Given the description of an element on the screen output the (x, y) to click on. 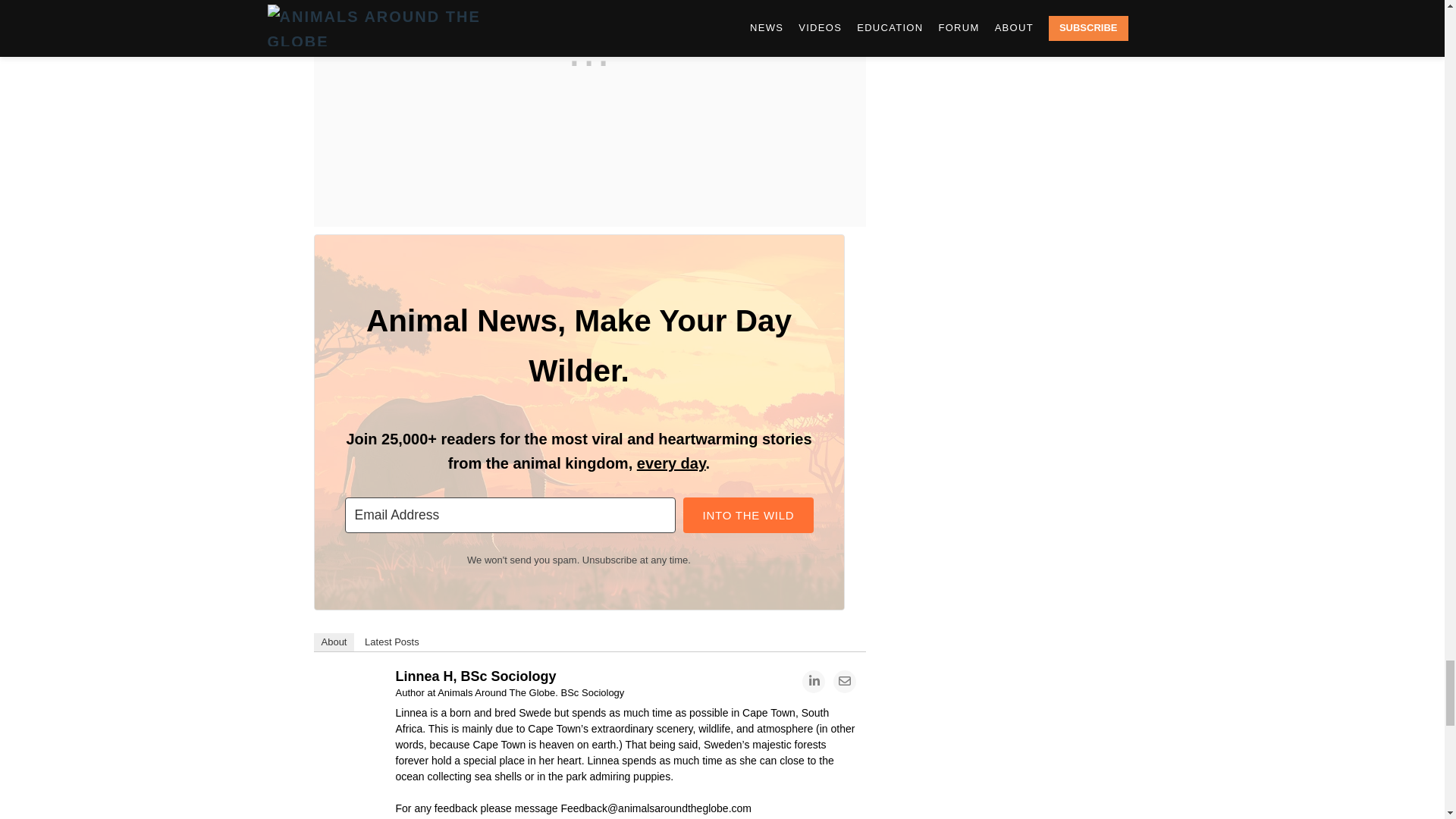
LinkedIn (813, 681)
Linnea H, BSc Sociology (353, 684)
Email (844, 681)
